Given the description of an element on the screen output the (x, y) to click on. 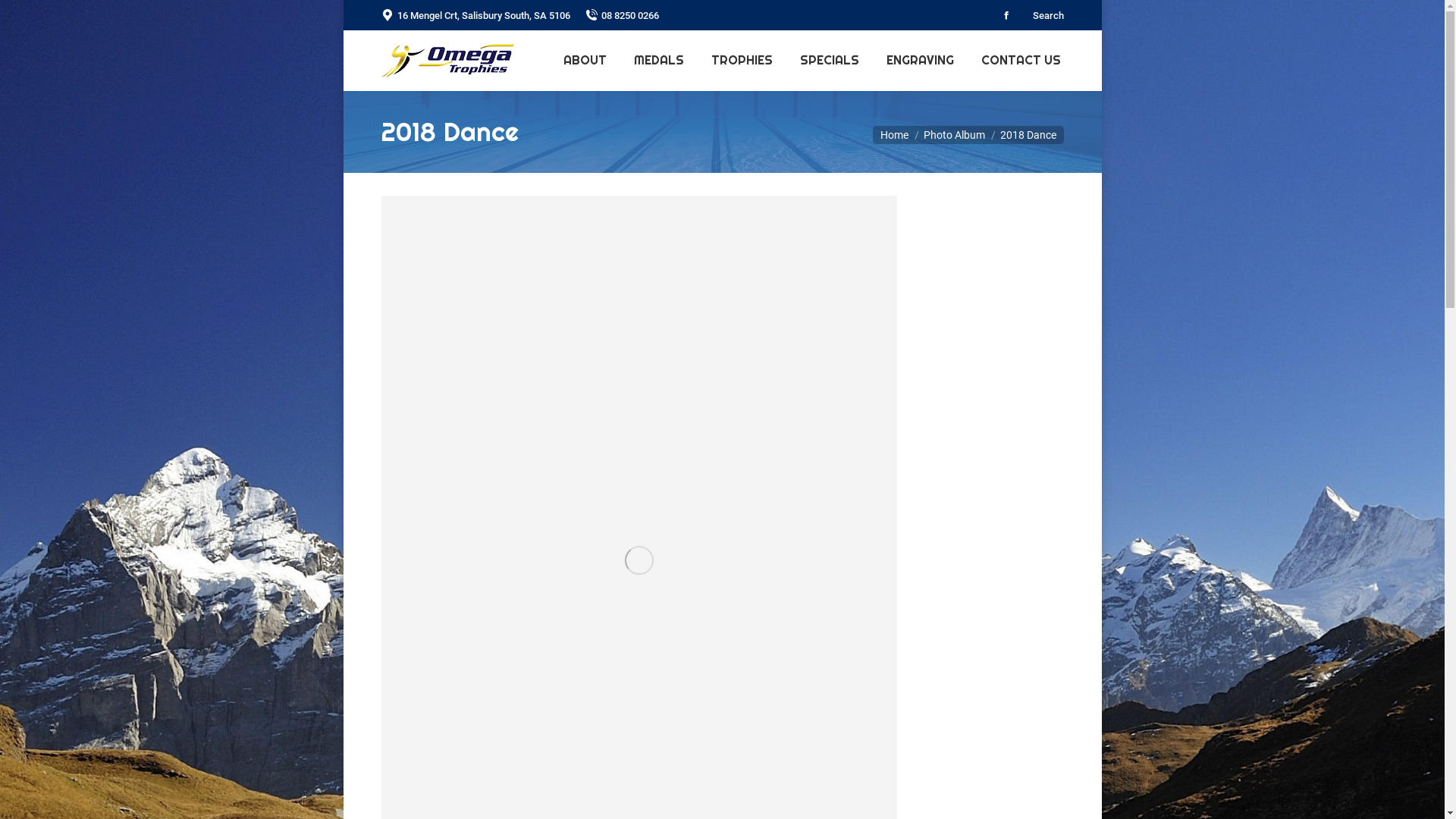
Search Element type: text (1045, 14)
Facebook page opens in new window Element type: text (1005, 14)
TROPHIES Element type: text (741, 60)
ENGRAVING Element type: text (919, 60)
SPECIALS Element type: text (828, 60)
ABOUT Element type: text (583, 60)
Photo Album Element type: text (954, 134)
Go! Element type: text (23, 15)
MEDALS Element type: text (658, 60)
CONTACT US Element type: text (1020, 60)
Home Element type: text (893, 134)
